Given the description of an element on the screen output the (x, y) to click on. 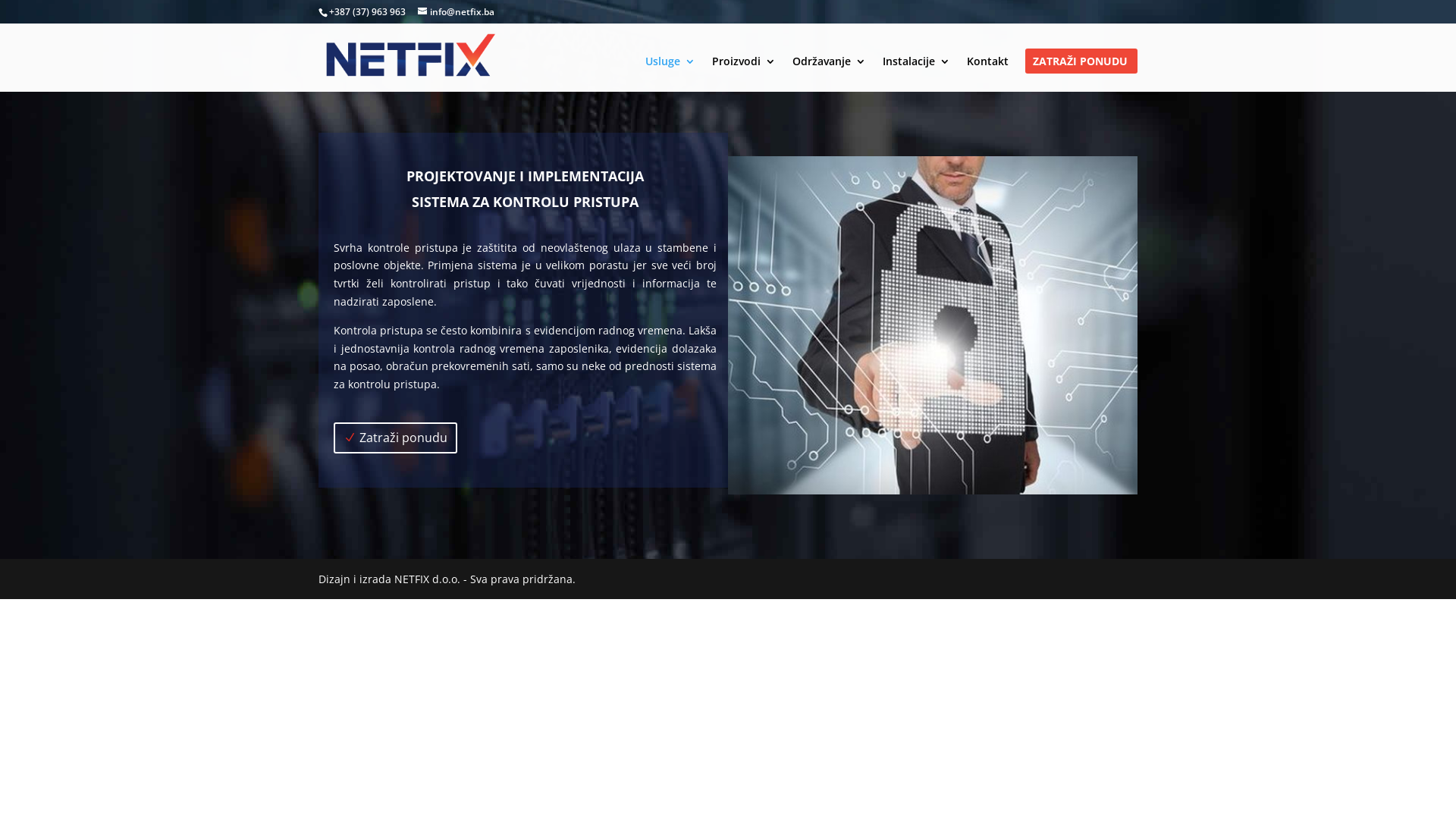
Kontakt Element type: text (987, 73)
Proizvodi Element type: text (743, 73)
Instalacije Element type: text (916, 73)
info@netfix.ba Element type: text (455, 11)
Usluge Element type: text (670, 73)
